Given the description of an element on the screen output the (x, y) to click on. 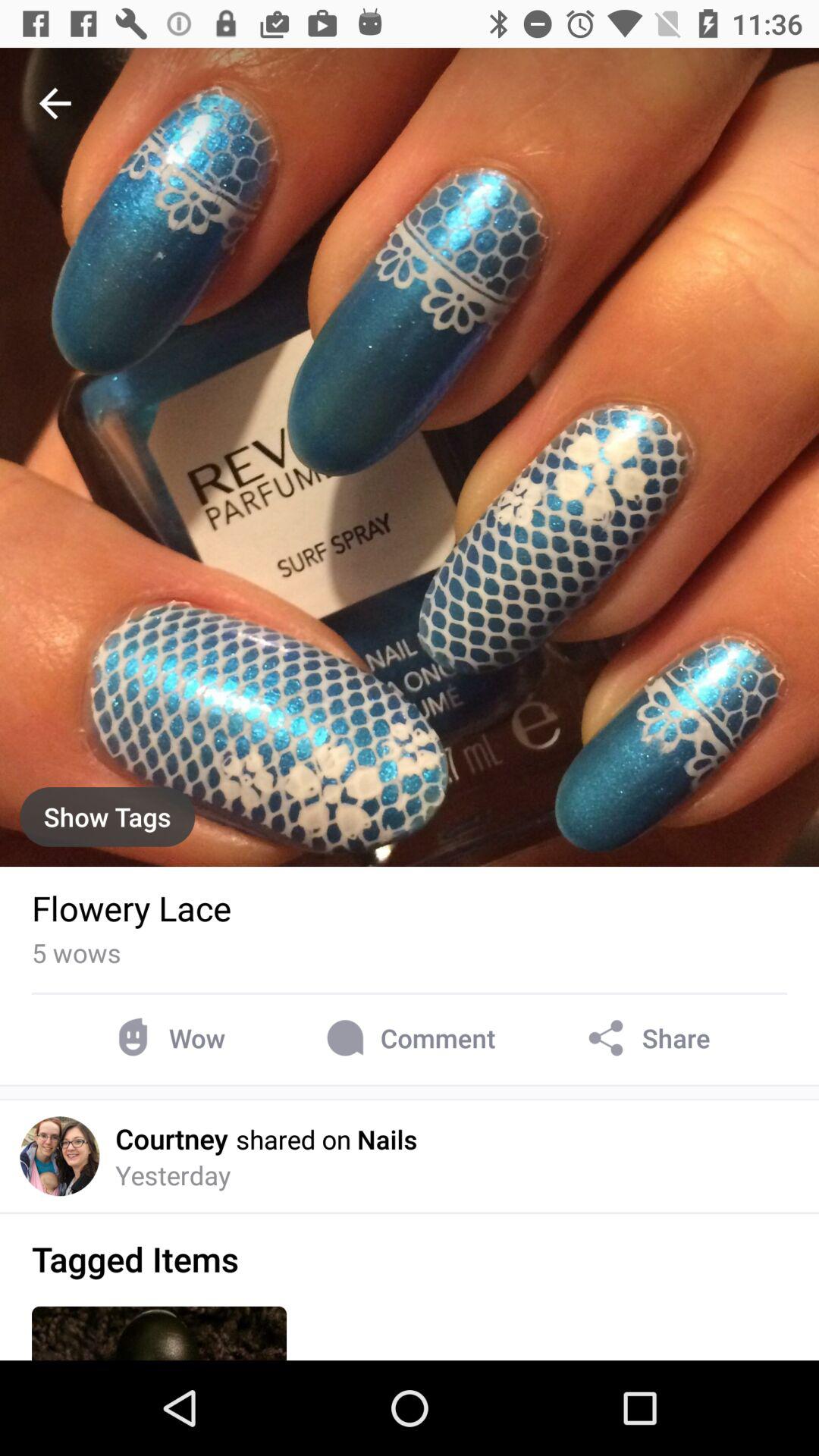
swipe until wow item (166, 1038)
